Given the description of an element on the screen output the (x, y) to click on. 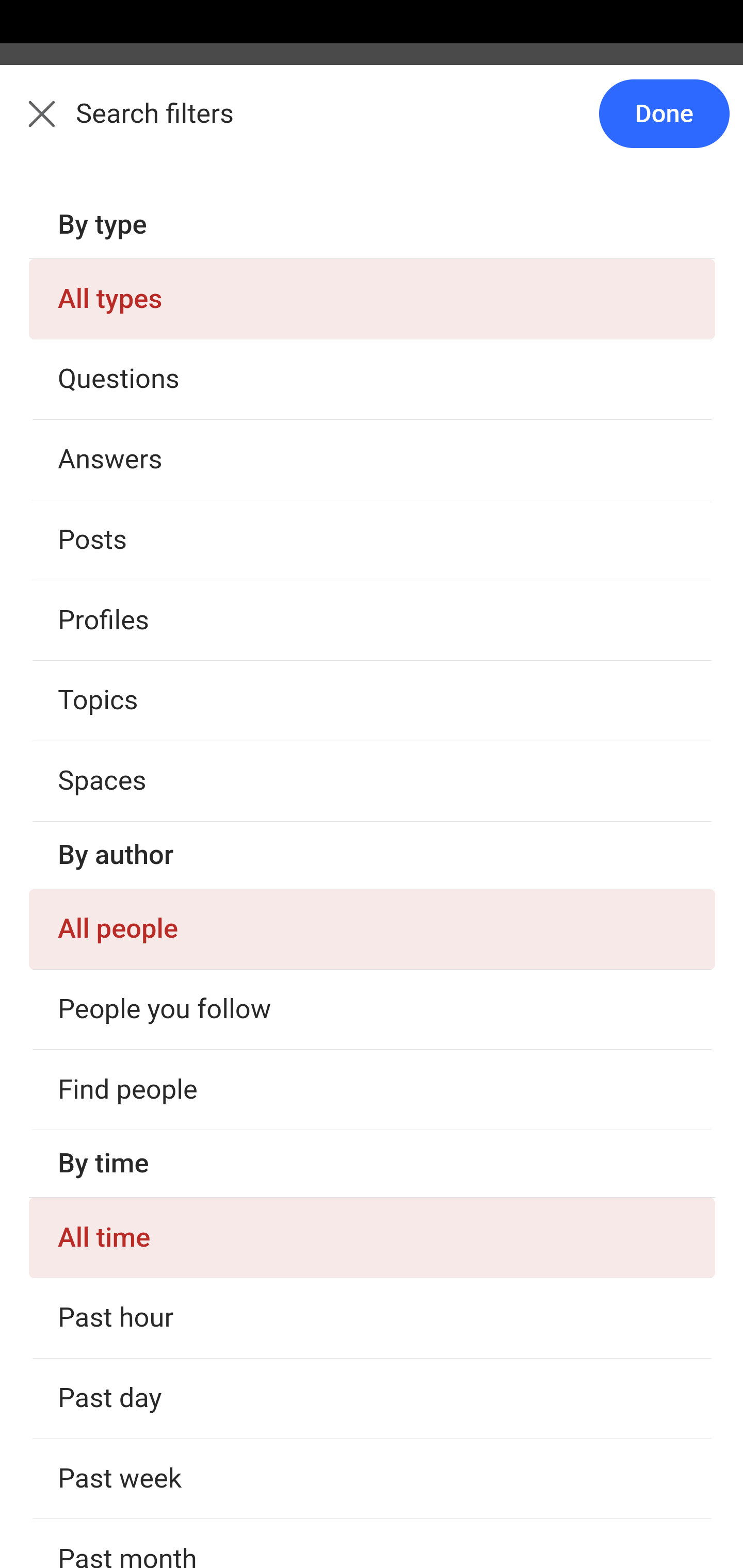
Back Search (371, 125)
Answer (125, 387)
Answer (125, 626)
